Given the description of an element on the screen output the (x, y) to click on. 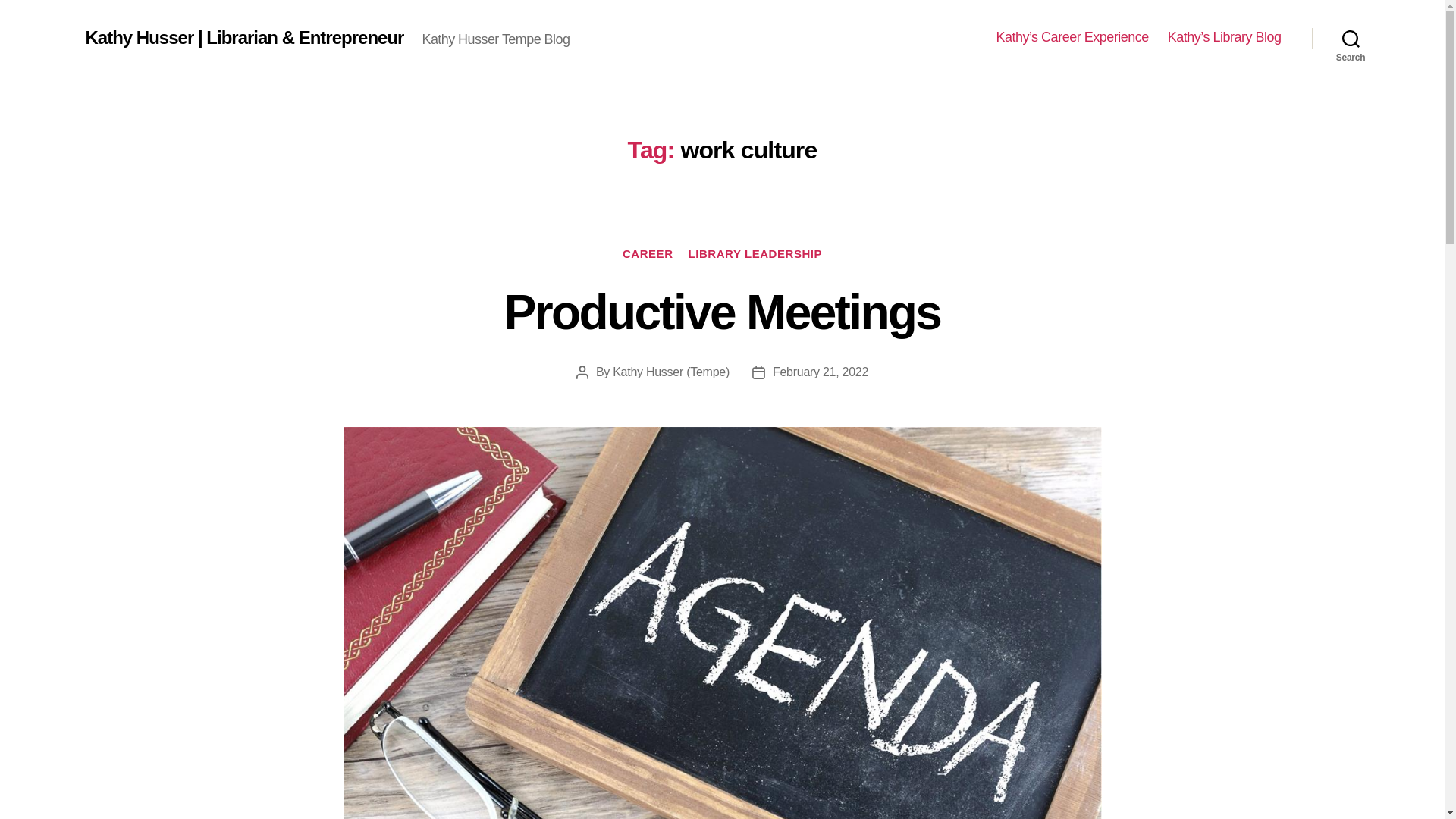
Productive Meetings (721, 312)
LIBRARY LEADERSHIP (755, 254)
CAREER (647, 254)
February 21, 2022 (820, 371)
Search (1350, 37)
